Given the description of an element on the screen output the (x, y) to click on. 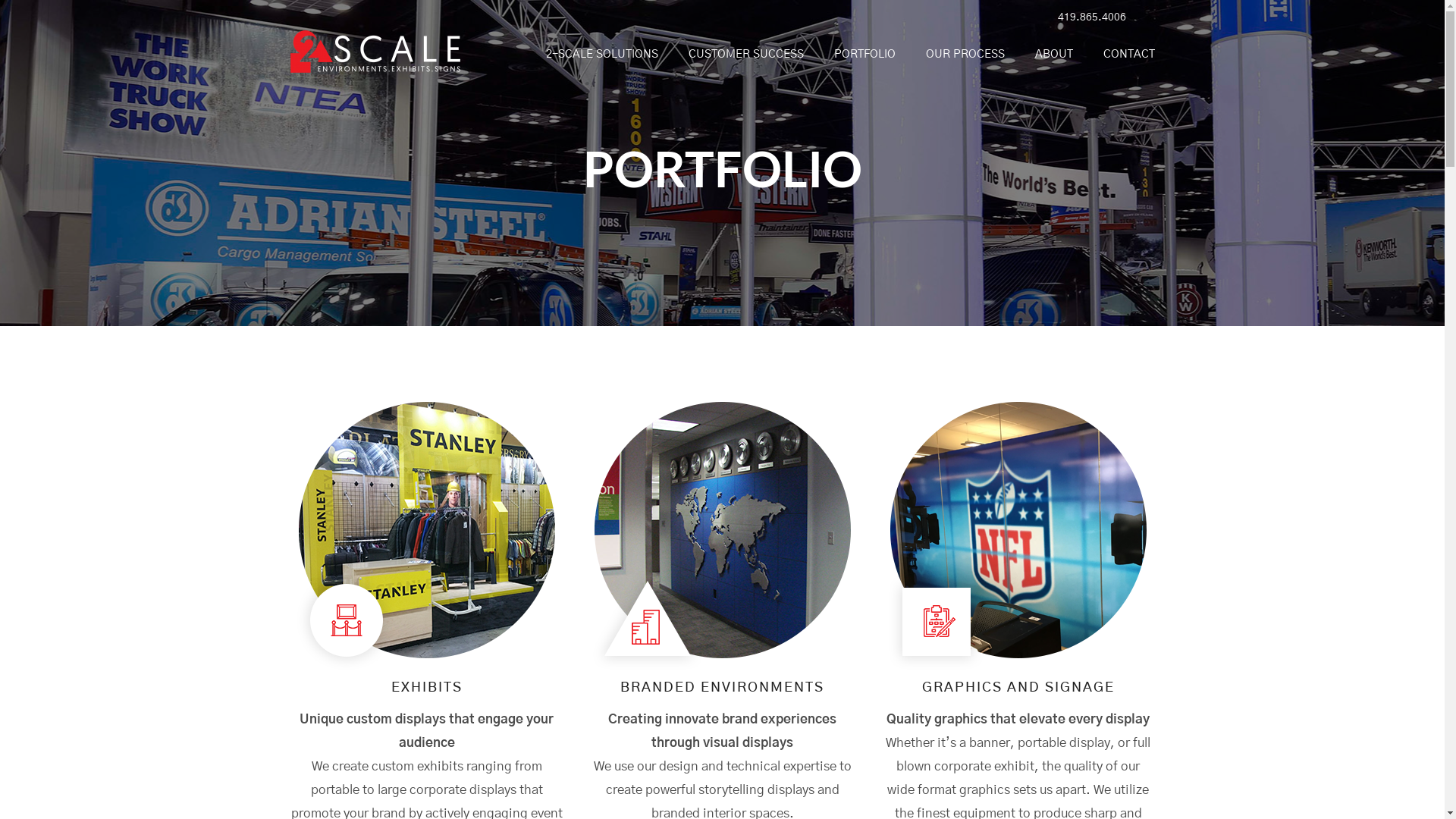
419.865.4006 Element type: text (1088, 17)
2-SCALE Element type: hover (374, 63)
CONTACT Element type: text (1121, 54)
PORTFOLIO Element type: text (864, 54)
2-SCALE SOLUTIONS Element type: text (601, 54)
OUR PROCESS Element type: text (964, 54)
CUSTOMER SUCCESS Element type: text (745, 54)
ABOUT Element type: text (1052, 54)
